Given the description of an element on the screen output the (x, y) to click on. 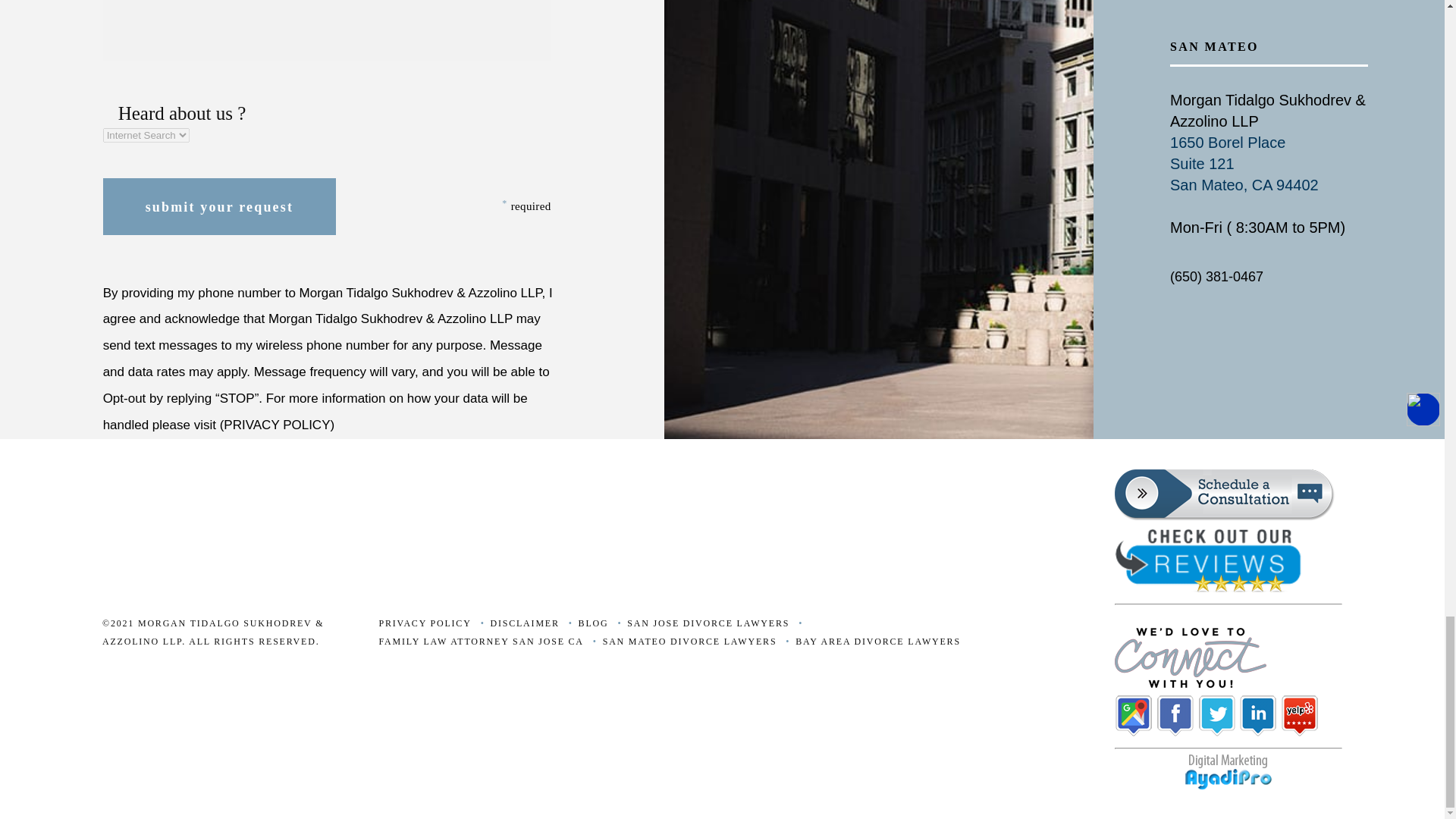
YELP (1300, 733)
San Mateo Divorce Lawyers (682, 641)
Submit your request (219, 206)
Linkedin (1260, 733)
Facebook (1174, 733)
San Jose Divorce Lawyers (700, 623)
Family Law Attorney San Jose CA (472, 641)
Digital Marketing (1228, 787)
Twitter (1217, 733)
Bay Area Divorce Lawyers (870, 641)
Google (1134, 733)
